Given the description of an element on the screen output the (x, y) to click on. 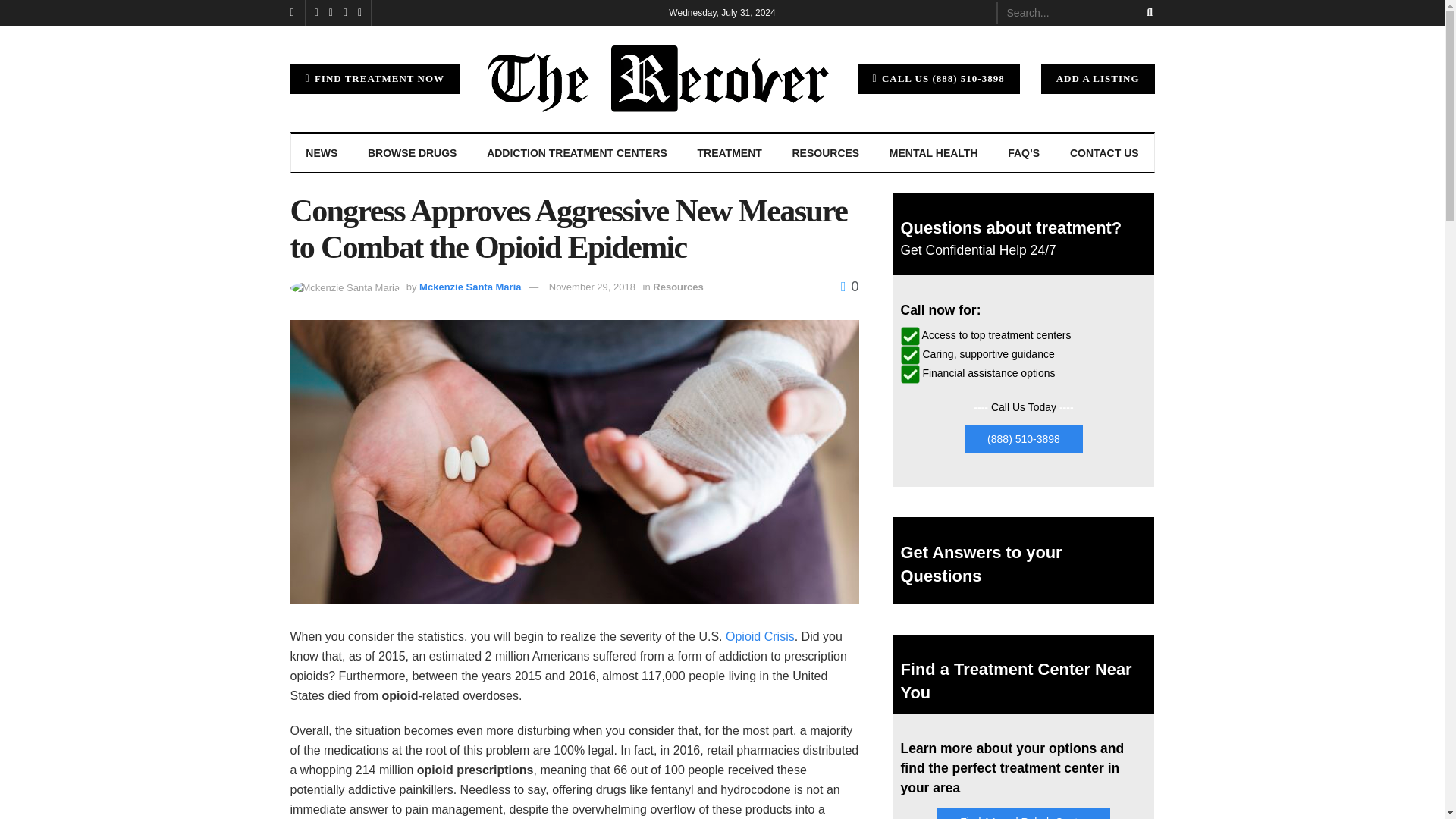
BROWSE DRUGS (411, 152)
ADD A LISTING (1097, 78)
FIND TREATMENT NOW (374, 78)
NEWS (322, 152)
